Given the description of an element on the screen output the (x, y) to click on. 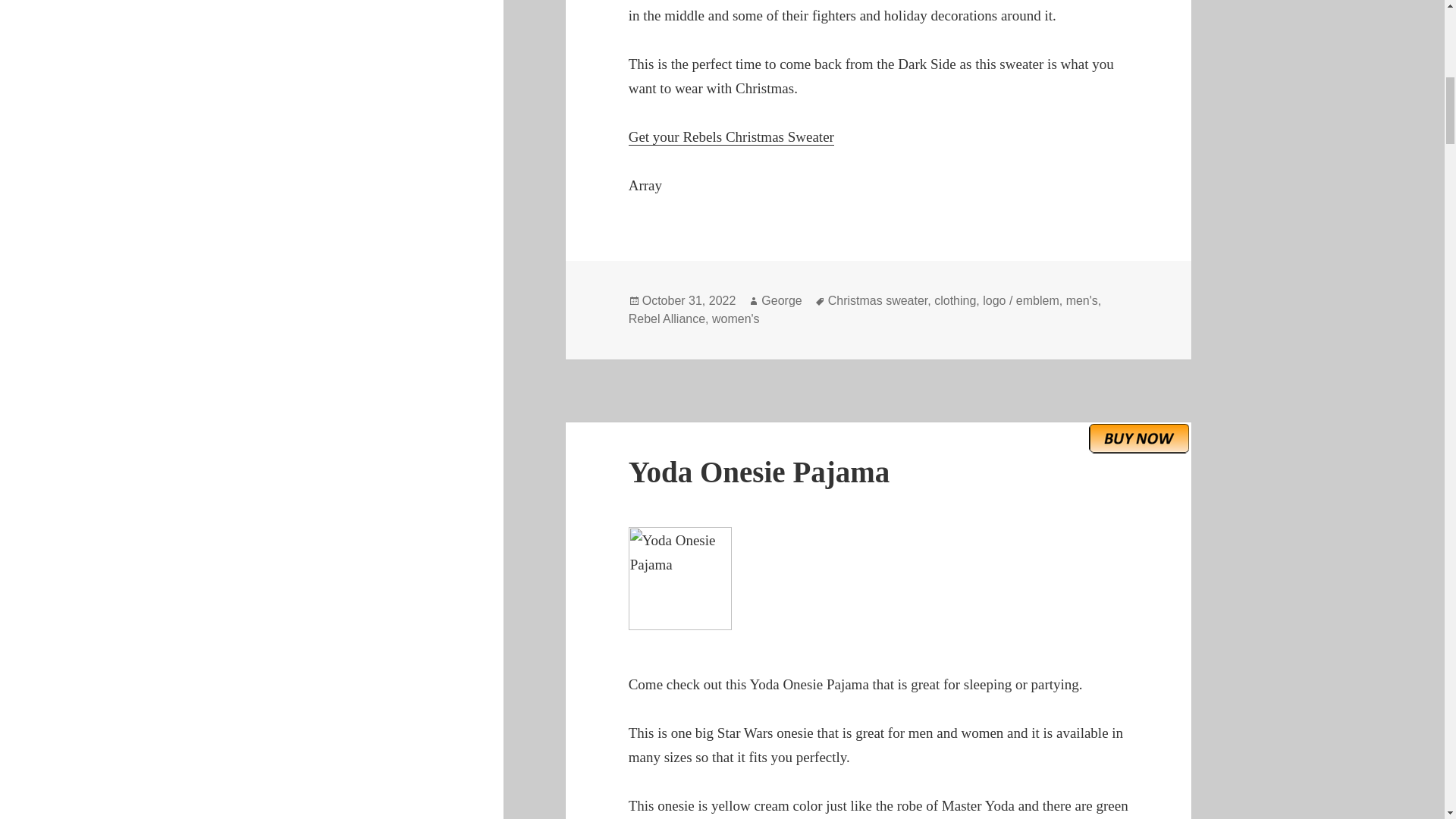
Christmas sweater (878, 300)
men's (1081, 300)
Rebel Alliance (666, 318)
George (781, 300)
buy Yoda Onesie Pajama (1139, 438)
Yoda Onesie Pajama (758, 471)
clothing (954, 300)
Get your Rebels Christmas Sweater (731, 136)
October 31, 2022 (689, 300)
women's (735, 318)
